Given the description of an element on the screen output the (x, y) to click on. 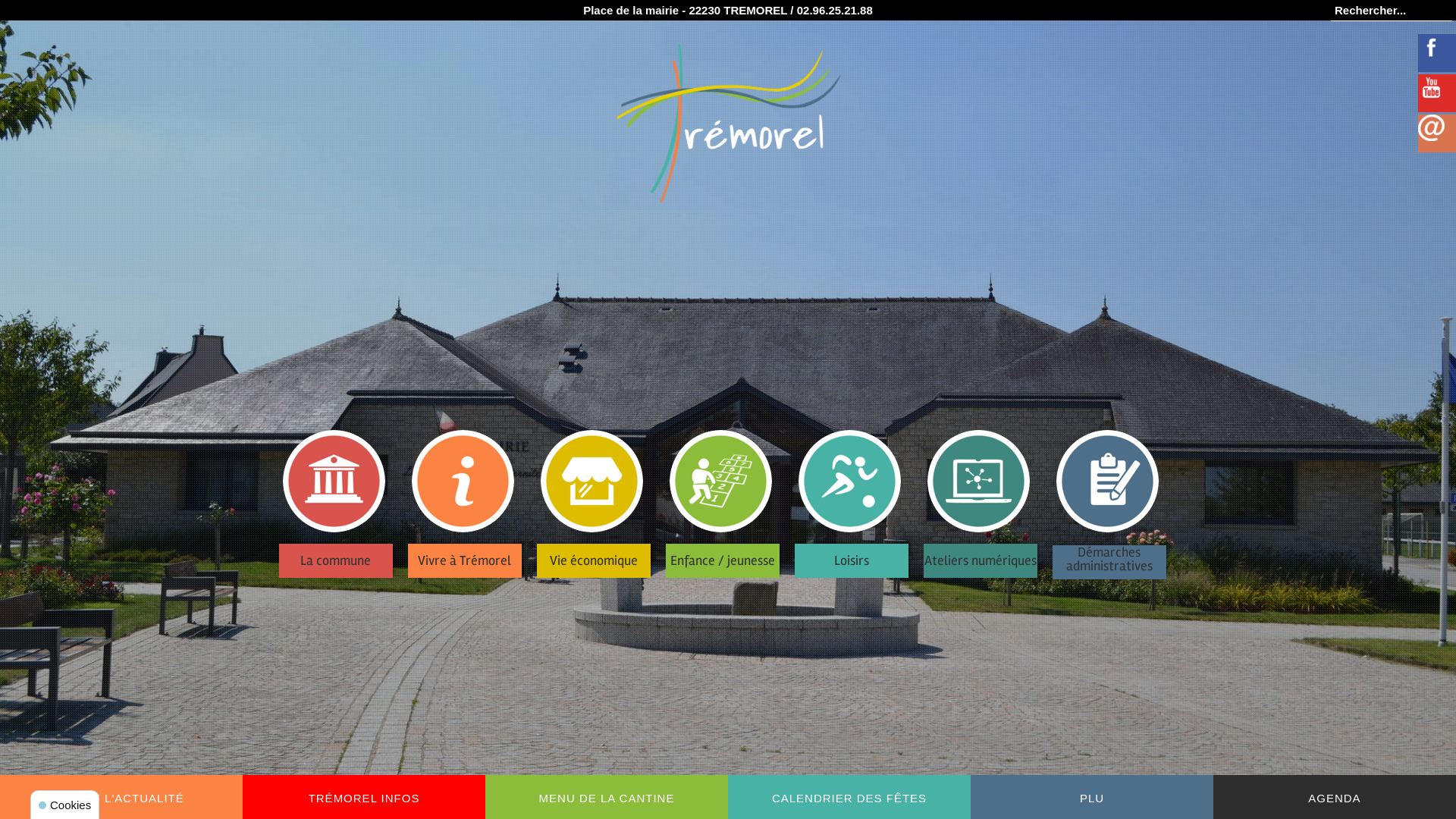
image Element type: hover (1431, 47)
La commune Element type: text (340, 499)
image Element type: hover (848, 480)
Loisirs Element type: text (856, 499)
Enfance / jeunesse Element type: text (727, 499)
image Element type: hover (333, 480)
Mairie de Tremorel Element type: hover (727, 122)
image Element type: hover (719, 480)
image Element type: hover (1431, 127)
image Element type: hover (462, 480)
image Element type: hover (977, 480)
image Element type: hover (1106, 480)
image Element type: hover (590, 480)
image Element type: hover (1431, 87)
